Given the description of an element on the screen output the (x, y) to click on. 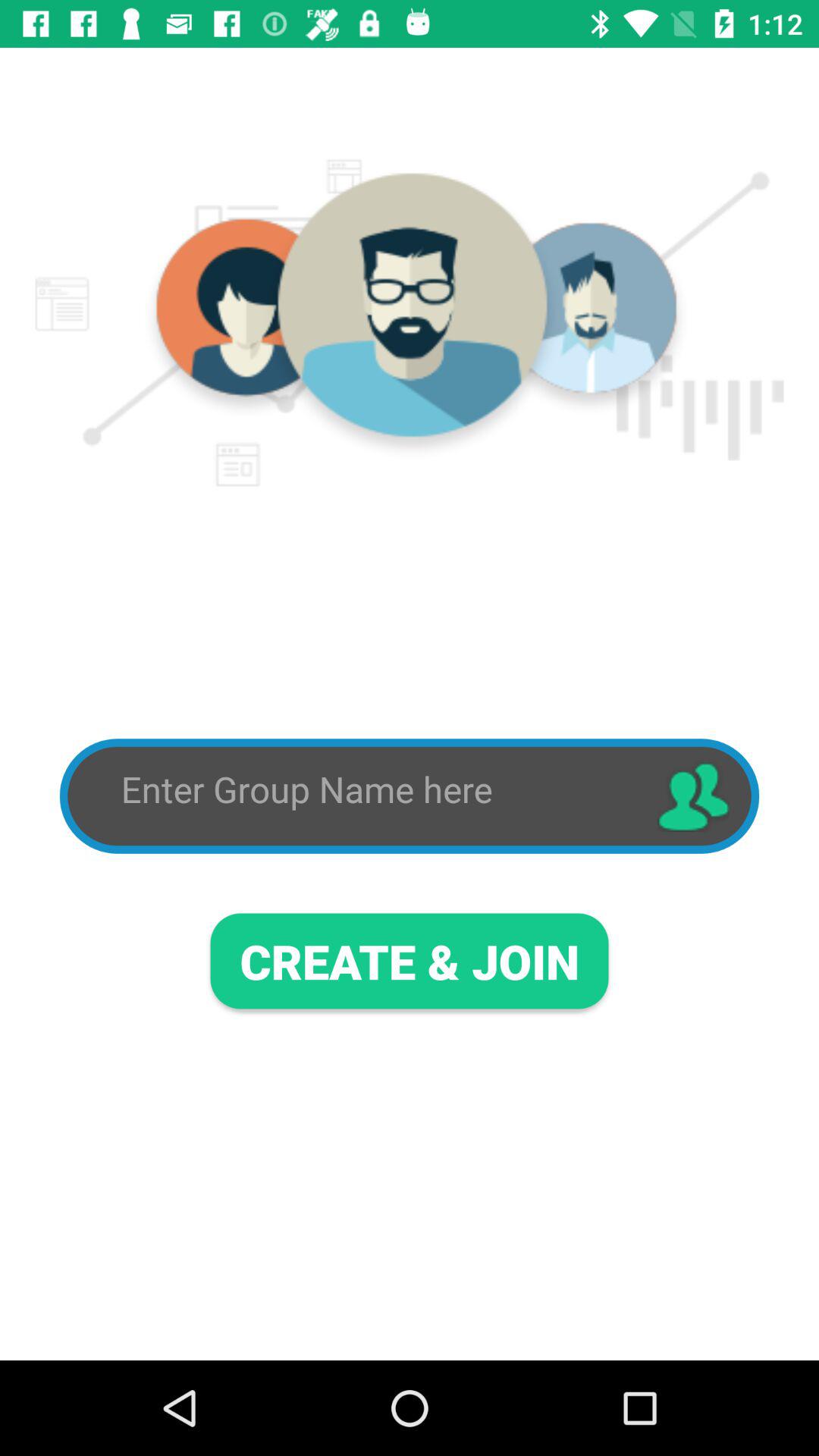
enter group name box (374, 790)
